Given the description of an element on the screen output the (x, y) to click on. 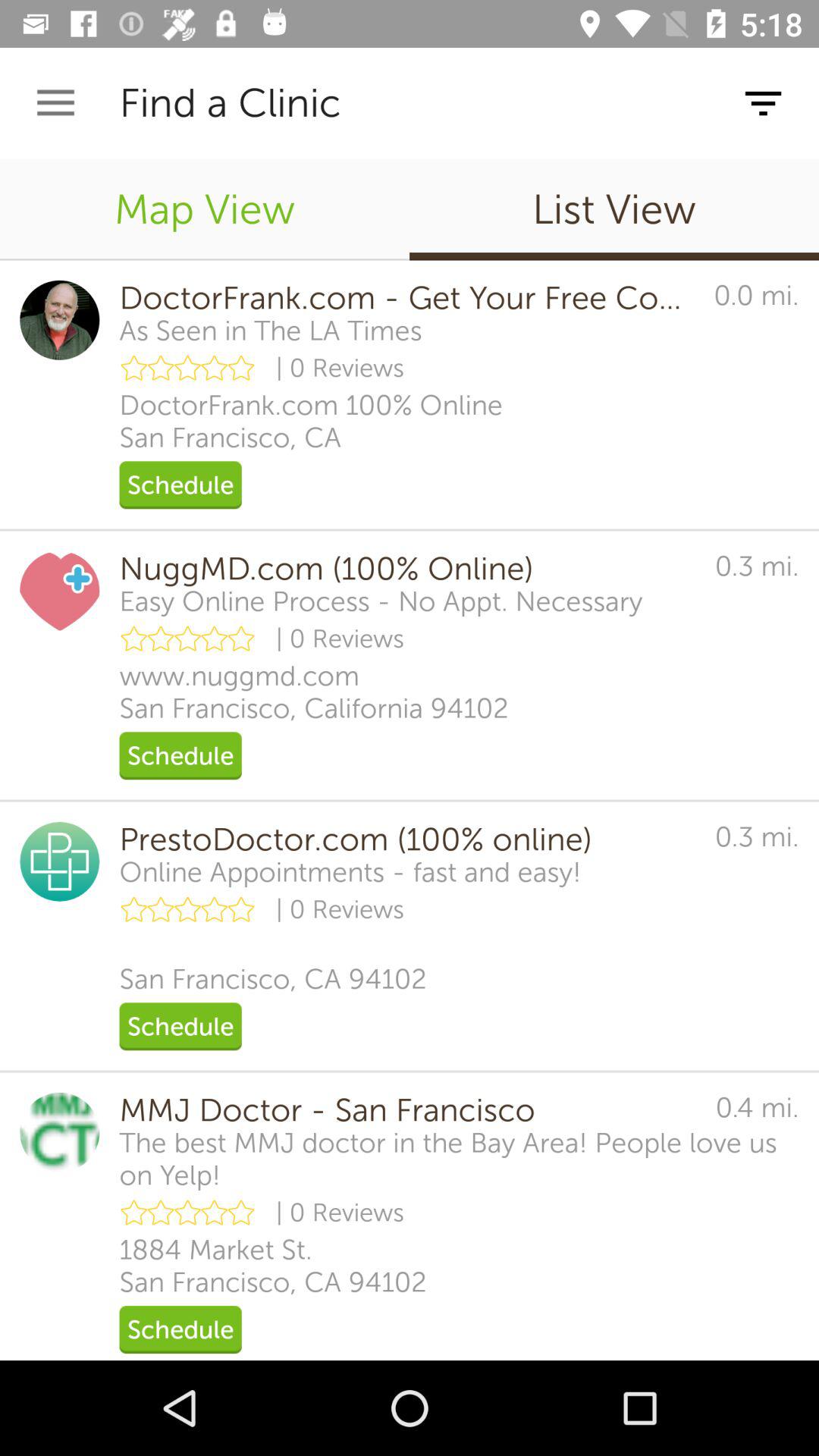
turn on icon next to the 0.3 mi. (407, 839)
